Given the description of an element on the screen output the (x, y) to click on. 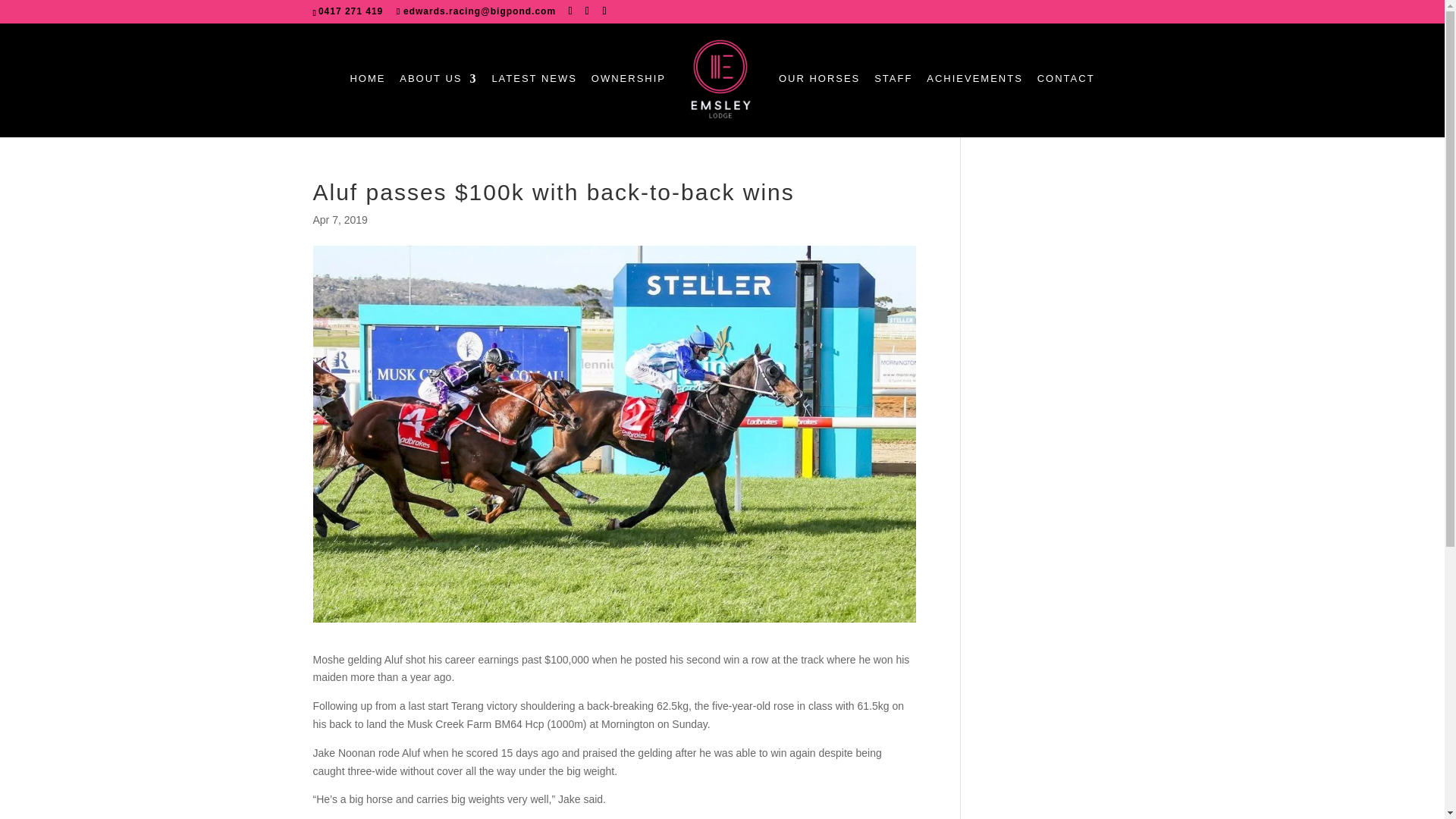
STAFF (893, 92)
LATEST NEWS (534, 92)
ABOUT US (437, 92)
CONTACT (1065, 92)
OUR HORSES (819, 92)
HOME (367, 92)
OWNERSHIP (628, 92)
ACHIEVEMENTS (974, 92)
